Given the description of an element on the screen output the (x, y) to click on. 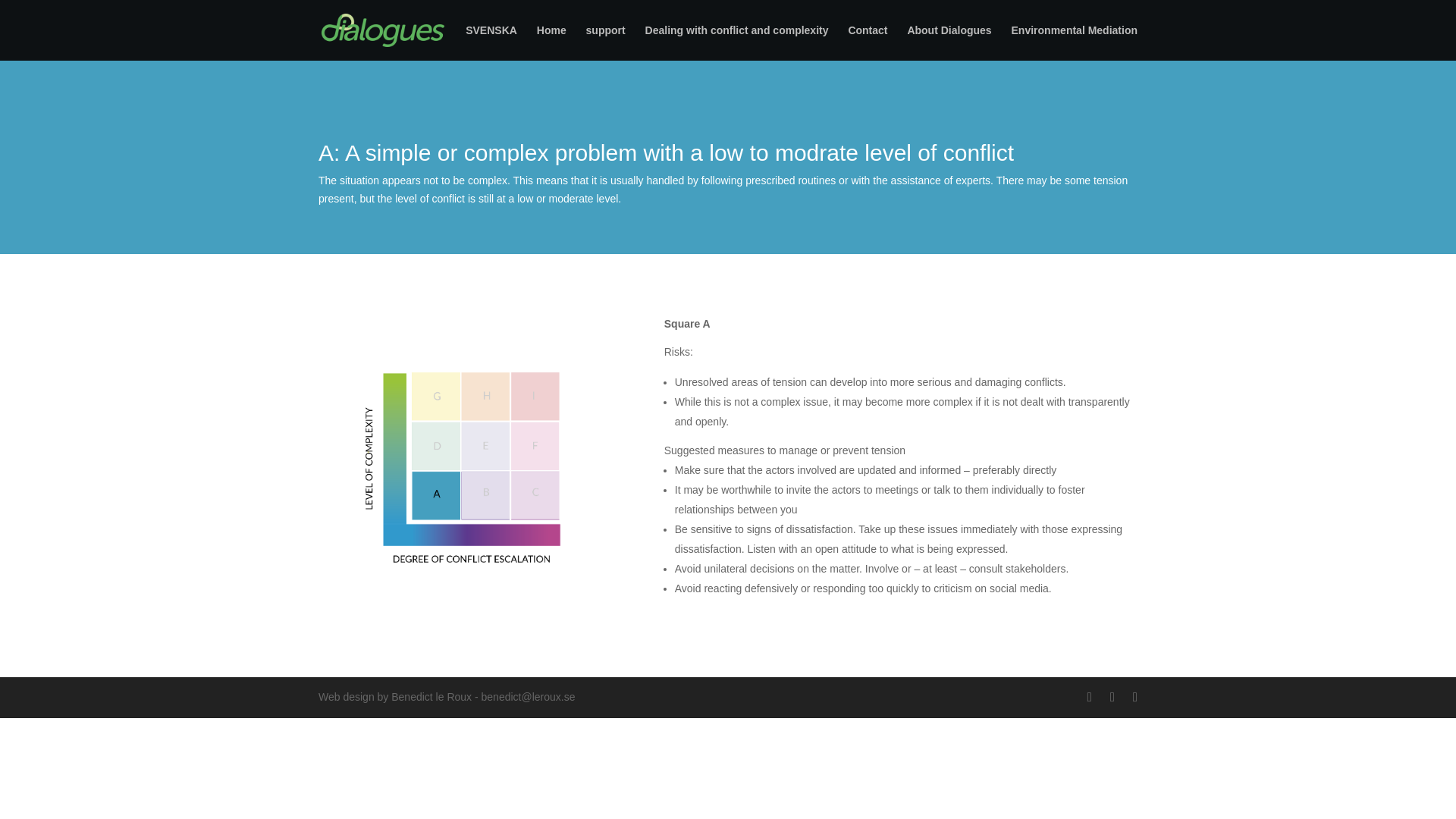
A - highlight (468, 465)
Home (551, 42)
About Dialogues (949, 42)
SVENSKA (490, 42)
support (606, 42)
Contact (866, 42)
Dealing with conflict and complexity (736, 42)
Environmental Mediation (1074, 42)
